Given the description of an element on the screen output the (x, y) to click on. 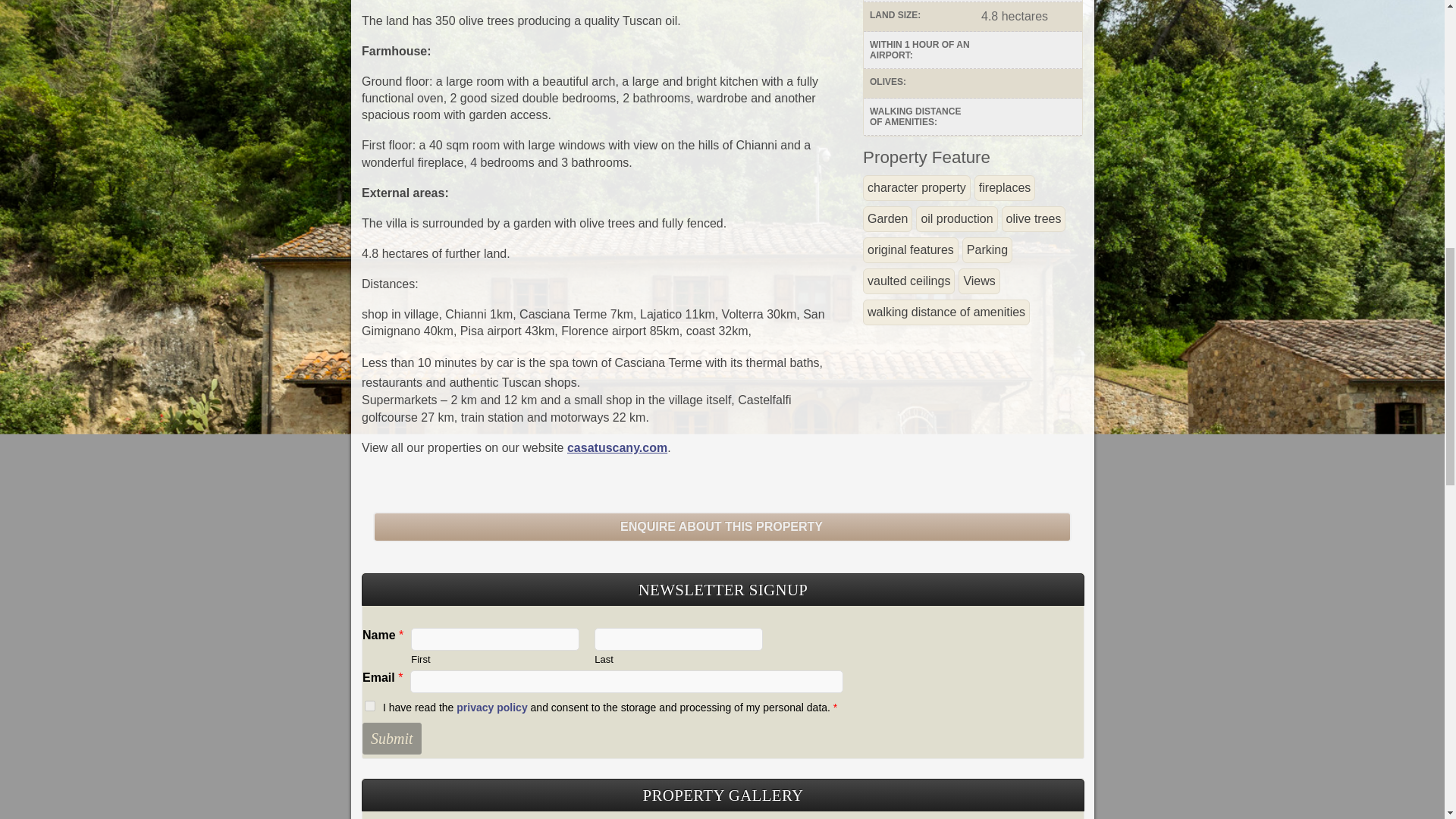
casatuscany.com (616, 447)
privacy policy (492, 707)
Submit (392, 738)
ENQUIRE ABOUT THIS PROPERTY (721, 526)
